Given the description of an element on the screen output the (x, y) to click on. 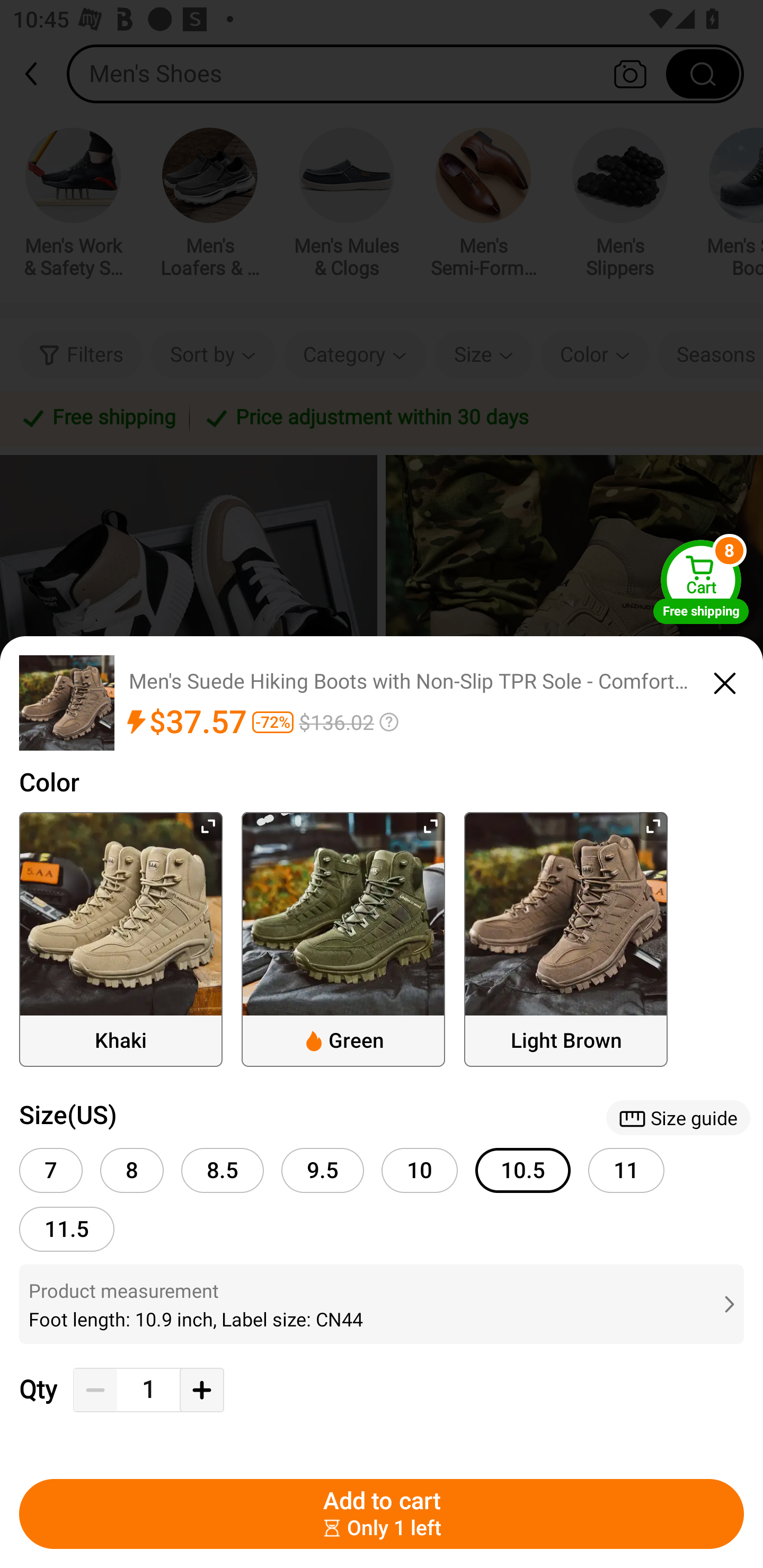
Cart Free shipping Cart (701, 581)
close (724, 680)
Khaki (120, 939)
Green ￼Green (342, 939)
Light Brown (565, 939)
￼Size guide (677, 1117)
 10 (423, 1164)
 10.5 (526, 1164)
 7 (50, 1170)
 8 (131, 1170)
 8.5 (222, 1170)
 9.5 (322, 1170)
 10 (419, 1170)
 10.5 (522, 1170)
 11 (626, 1170)
 11.5 (66, 1229)
Decrease Quantity Button (95, 1389)
Add Quantity Button (201, 1389)
1 (148, 1389)
Add to cart ￼￼Only 1 left (381, 1513)
